Given the description of an element on the screen output the (x, y) to click on. 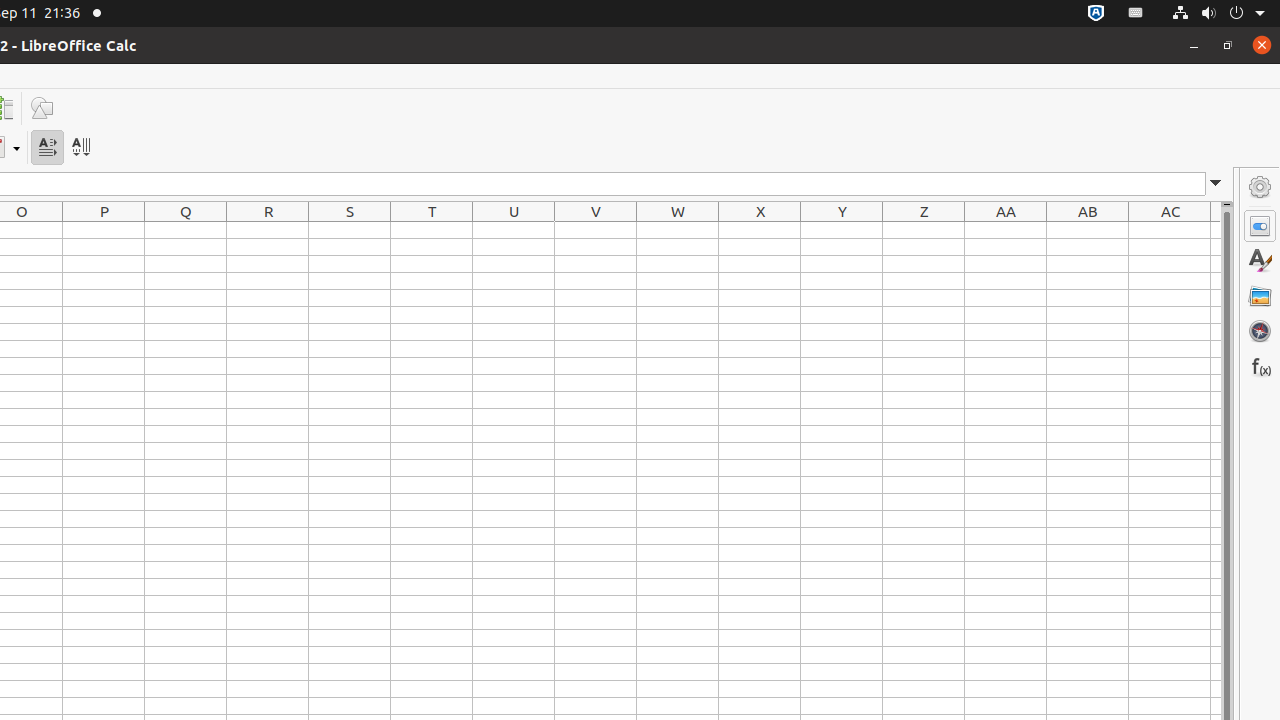
Expand Formula Bar Element type: push-button (1216, 183)
Text direction from top to bottom Element type: toggle-button (80, 147)
Z1 Element type: table-cell (924, 230)
Navigator Element type: radio-button (1260, 331)
Y1 Element type: table-cell (842, 230)
